Given the description of an element on the screen output the (x, y) to click on. 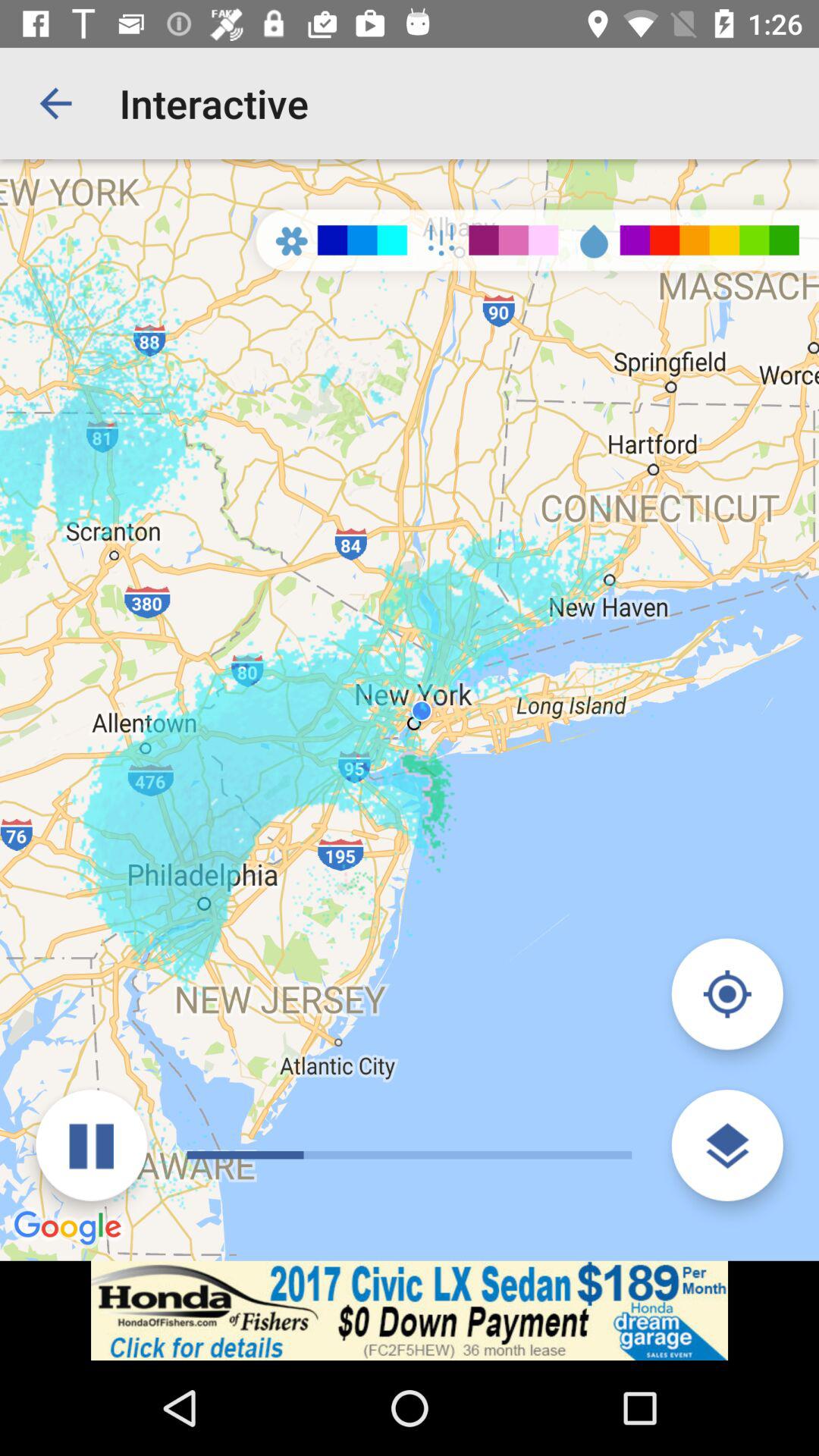
play button (91, 1145)
